Given the description of an element on the screen output the (x, y) to click on. 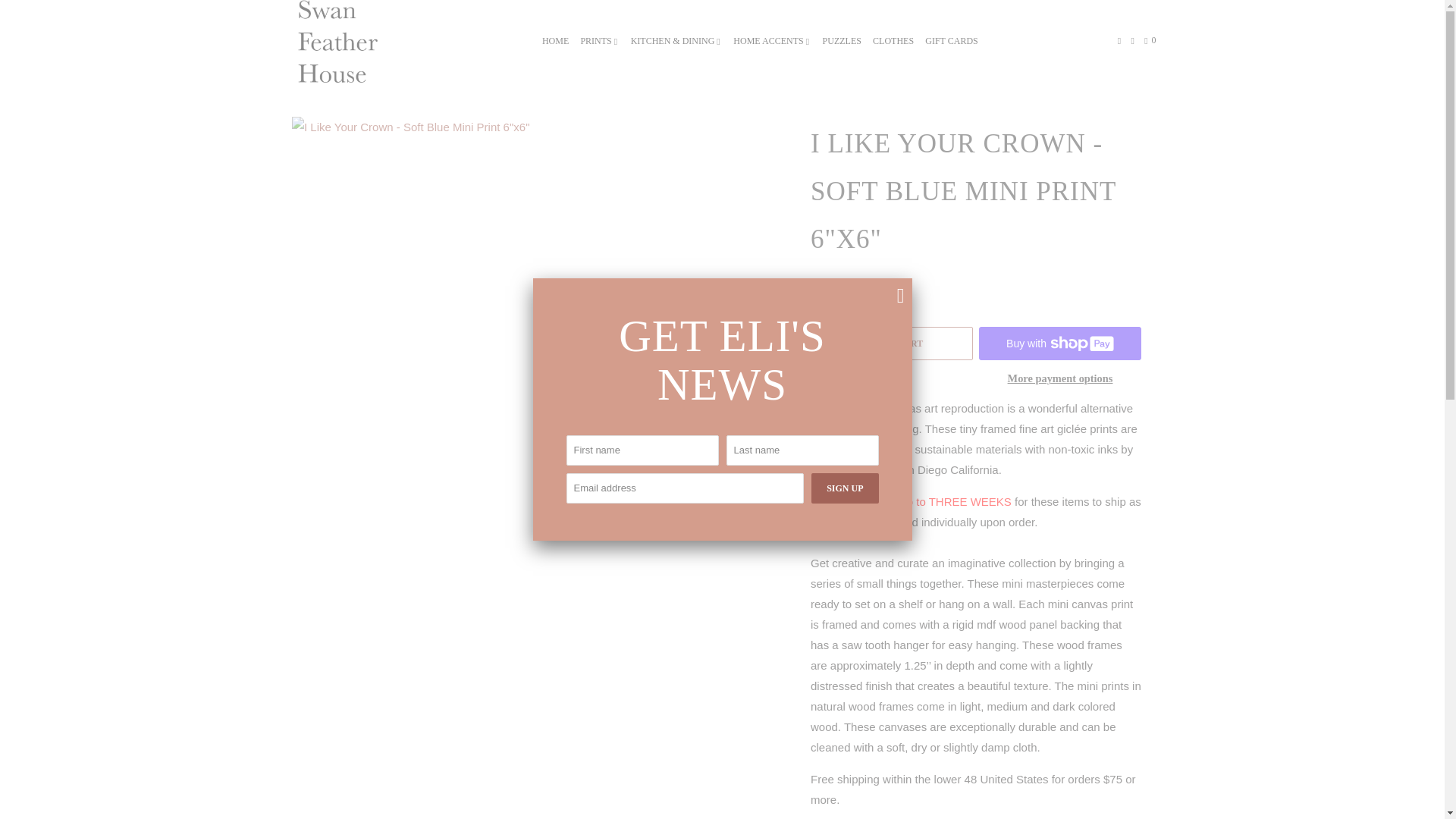
Swan Feather House (337, 41)
PUZZLES (841, 40)
Sign Up (843, 488)
HOME (555, 40)
Search (1132, 40)
My Account  (1120, 40)
